Given the description of an element on the screen output the (x, y) to click on. 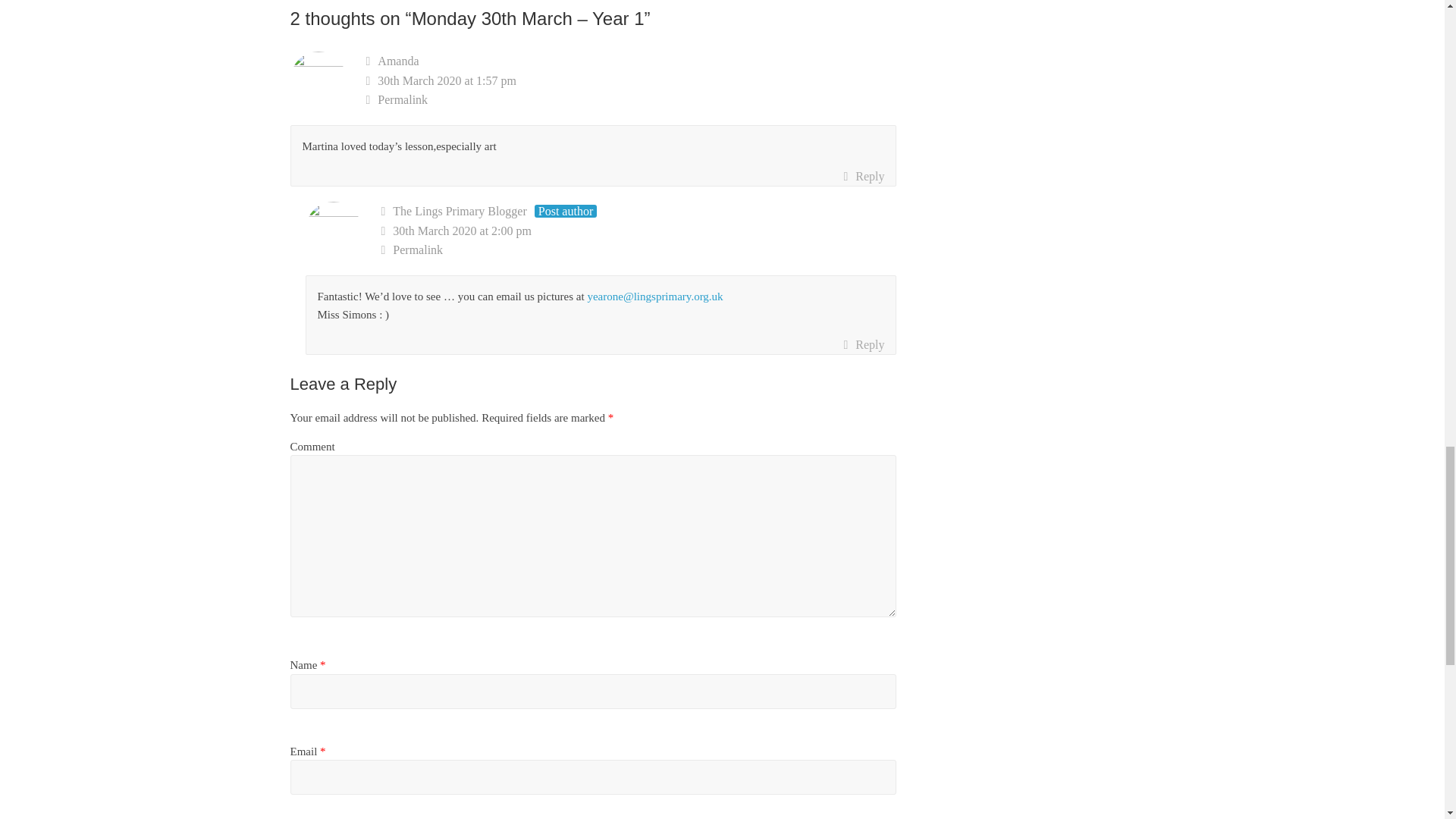
Permalink (638, 250)
Reply (863, 176)
Reply (863, 344)
Permalink (630, 99)
